Given the description of an element on the screen output the (x, y) to click on. 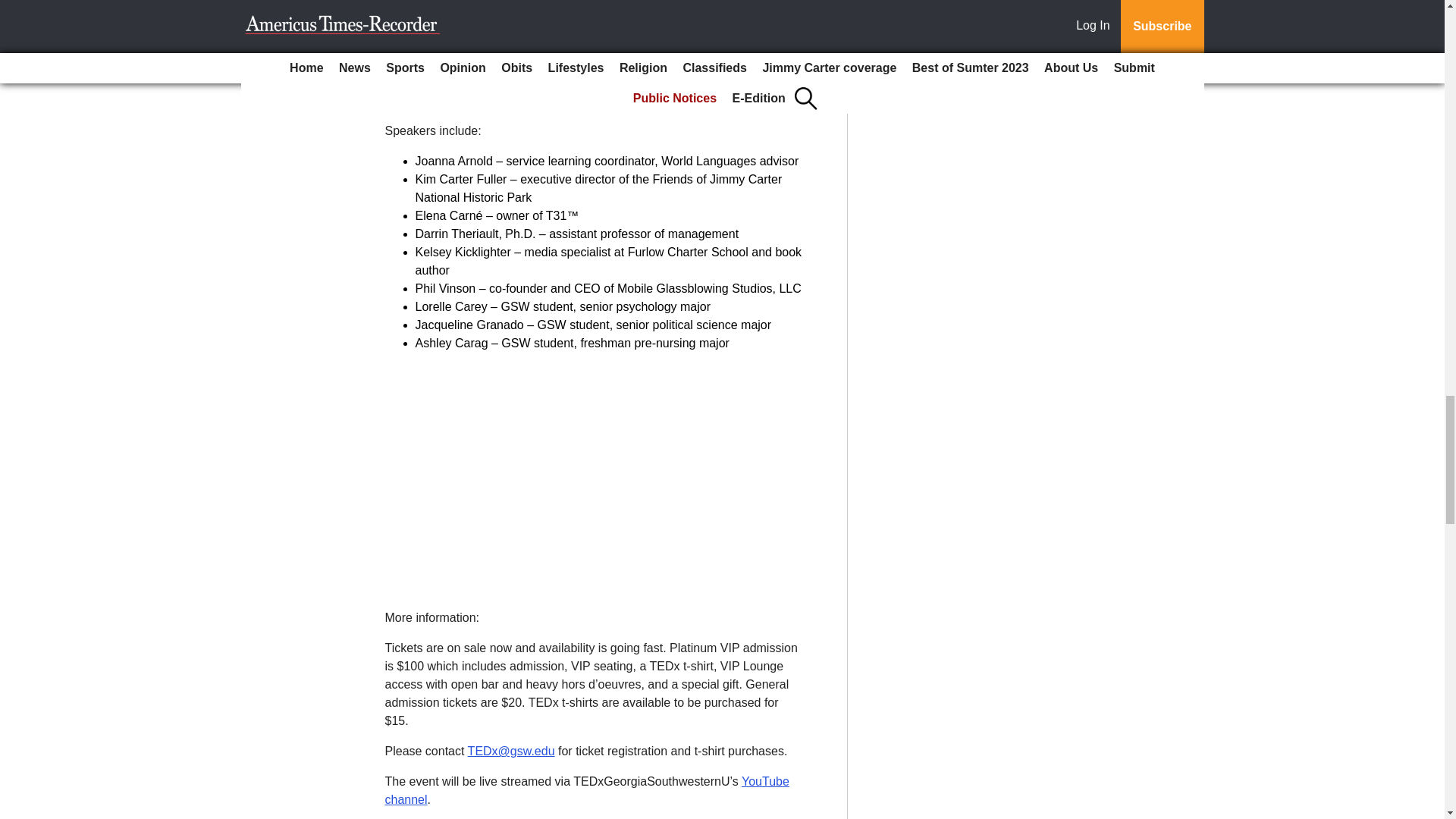
YouTube channel (587, 789)
TED (754, 27)
